Given the description of an element on the screen output the (x, y) to click on. 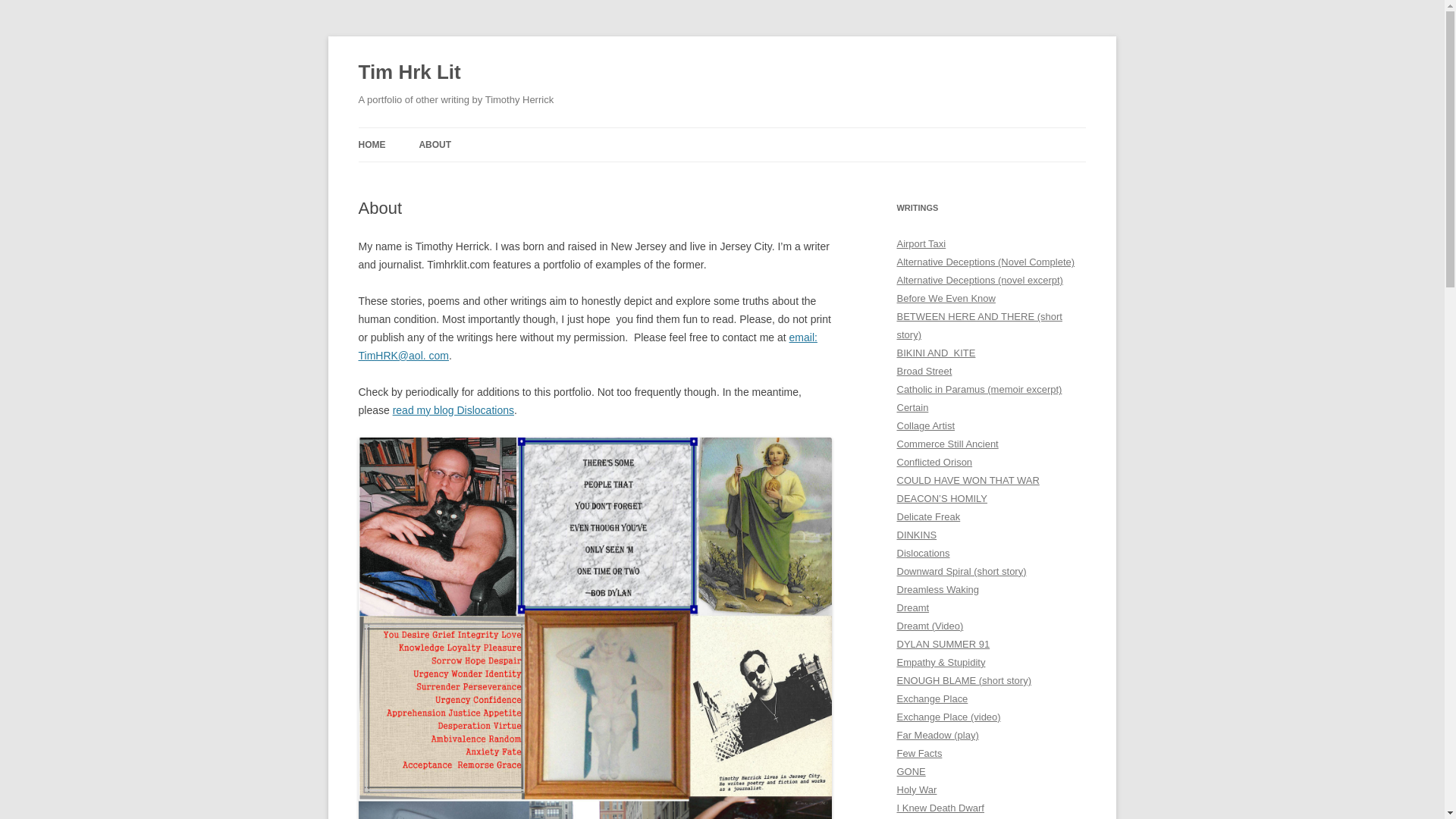
Commerce Still Ancient (946, 443)
Exchange Place (932, 698)
Dreamless Waking (937, 589)
COULD HAVE WON THAT WAR (967, 480)
Airport Taxi (920, 243)
Dislocations (922, 552)
I Knew Death Dwarf (940, 808)
Holy War (916, 789)
read my blog Dislocations (453, 410)
GONE (910, 771)
BIKINI AND  KITE (935, 352)
Delicate Freak (927, 516)
Broad Street (924, 370)
Dreamt (912, 607)
